Given the description of an element on the screen output the (x, y) to click on. 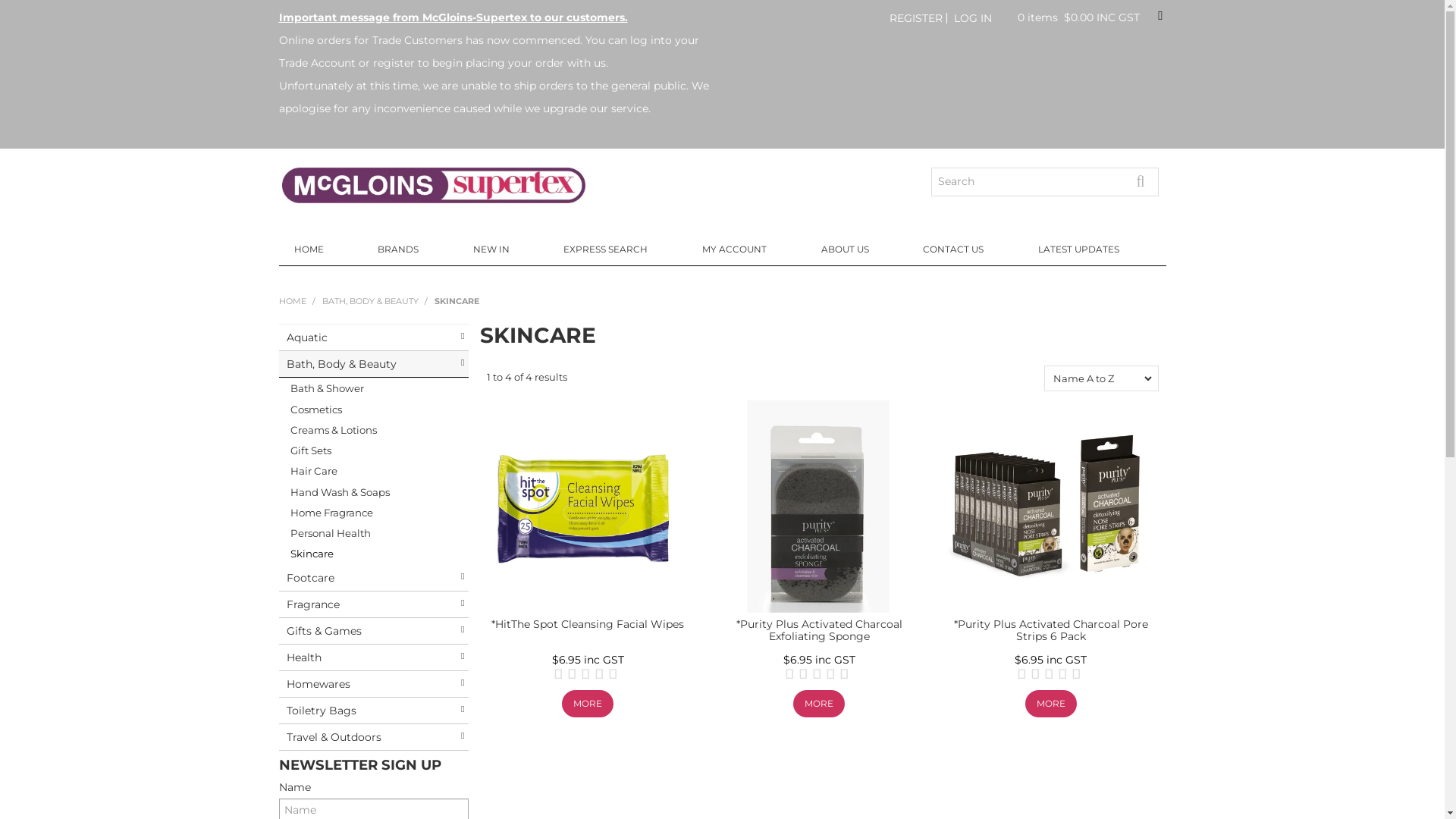
Home Fragrance Element type: text (373, 512)
0 items Element type: text (1037, 17)
BATH, BODY & BEAUTY Element type: text (369, 300)
*Purity Plus Activated Charcoal Pore Strips 6 Pack Element type: text (1050, 629)
*Purity Plus Activated Charcoal Pore Strips 6 Pack Element type: hover (1049, 505)
$0.00 INC GST Element type: text (1112, 17)
Skincare Element type: text (373, 553)
Gifts & Games Element type: text (373, 631)
CONTACT US Element type: text (964, 249)
MY ACCOUNT Element type: text (746, 249)
Homewares Element type: text (373, 684)
Personal Health Element type: text (373, 533)
Cosmetics Element type: text (373, 409)
Bath & Shower Element type: text (373, 388)
*HitThe Spot Cleansing Facial Wipes Element type: hover (586, 506)
*Purity Plus Activated Charcoal Exfoliating Sponge Element type: hover (818, 505)
Search Element type: text (1144, 180)
Hair Care Element type: text (373, 471)
MORE Element type: text (818, 703)
MORE Element type: text (587, 703)
HOME Element type: text (321, 249)
NEW IN Element type: text (503, 249)
Health Element type: text (373, 657)
Hand Wash & Soaps Element type: text (373, 492)
ABOUT US Element type: text (857, 249)
Creams & Lotions Element type: text (373, 430)
Gift Sets Element type: text (373, 450)
Toiletry Bags Element type: text (373, 710)
Fragrance Element type: text (373, 604)
MORE Element type: text (1050, 703)
*Purity Plus Activated Charcoal Exfoliating Sponge Element type: text (819, 629)
LATEST UPDATES Element type: text (1090, 249)
EXPRESS SEARCH Element type: text (617, 249)
Travel & Outdoors Element type: text (373, 737)
BRANDS Element type: text (410, 249)
Aquatic Element type: text (373, 337)
REGISTER Element type: text (915, 17)
LOG IN Element type: text (972, 17)
Footcare Element type: text (373, 577)
Bath, Body & Beauty Element type: text (373, 364)
HOME Element type: text (292, 300)
*HitThe Spot Cleansing Facial Wipes Element type: text (587, 623)
